Given the description of an element on the screen output the (x, y) to click on. 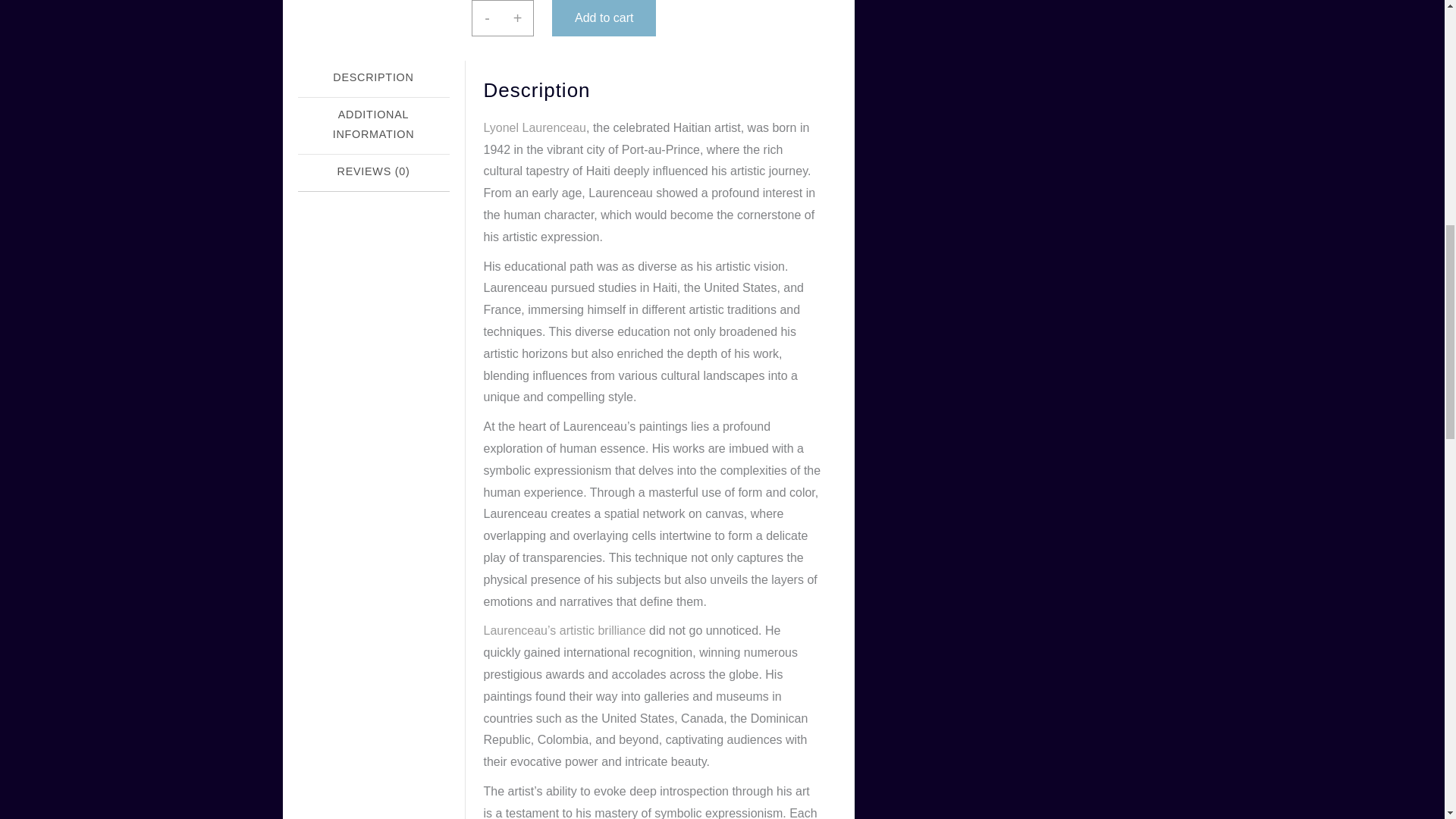
DESCRIPTION (372, 78)
ADDITIONAL INFORMATION (372, 125)
Lyonel Laurenceau (534, 127)
Add to cart (603, 18)
